Given the description of an element on the screen output the (x, y) to click on. 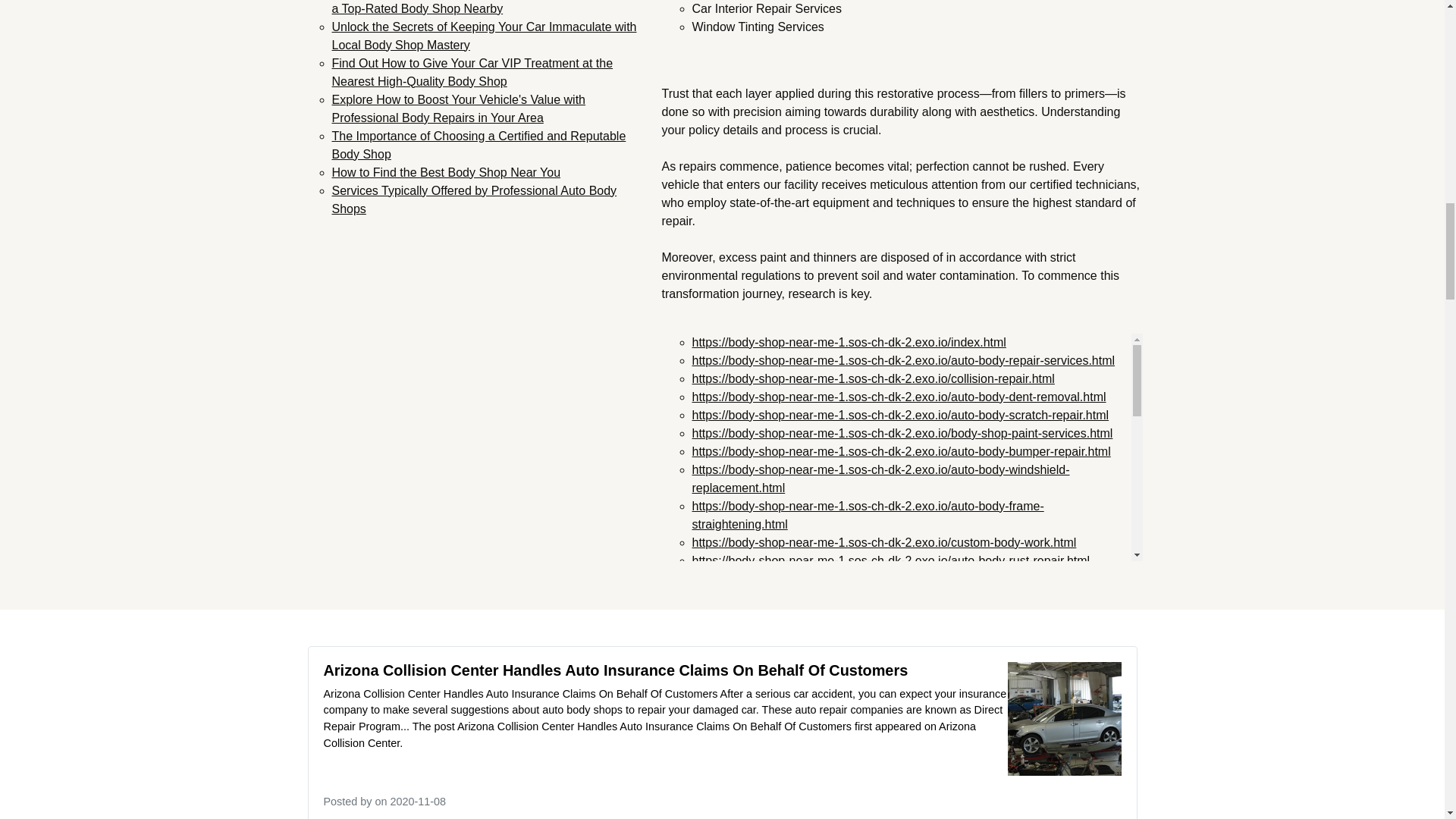
How to Find the Best Body Shop Near You (445, 171)
Services Typically Offered by Professional Auto Body Shops (474, 198)
